Given the description of an element on the screen output the (x, y) to click on. 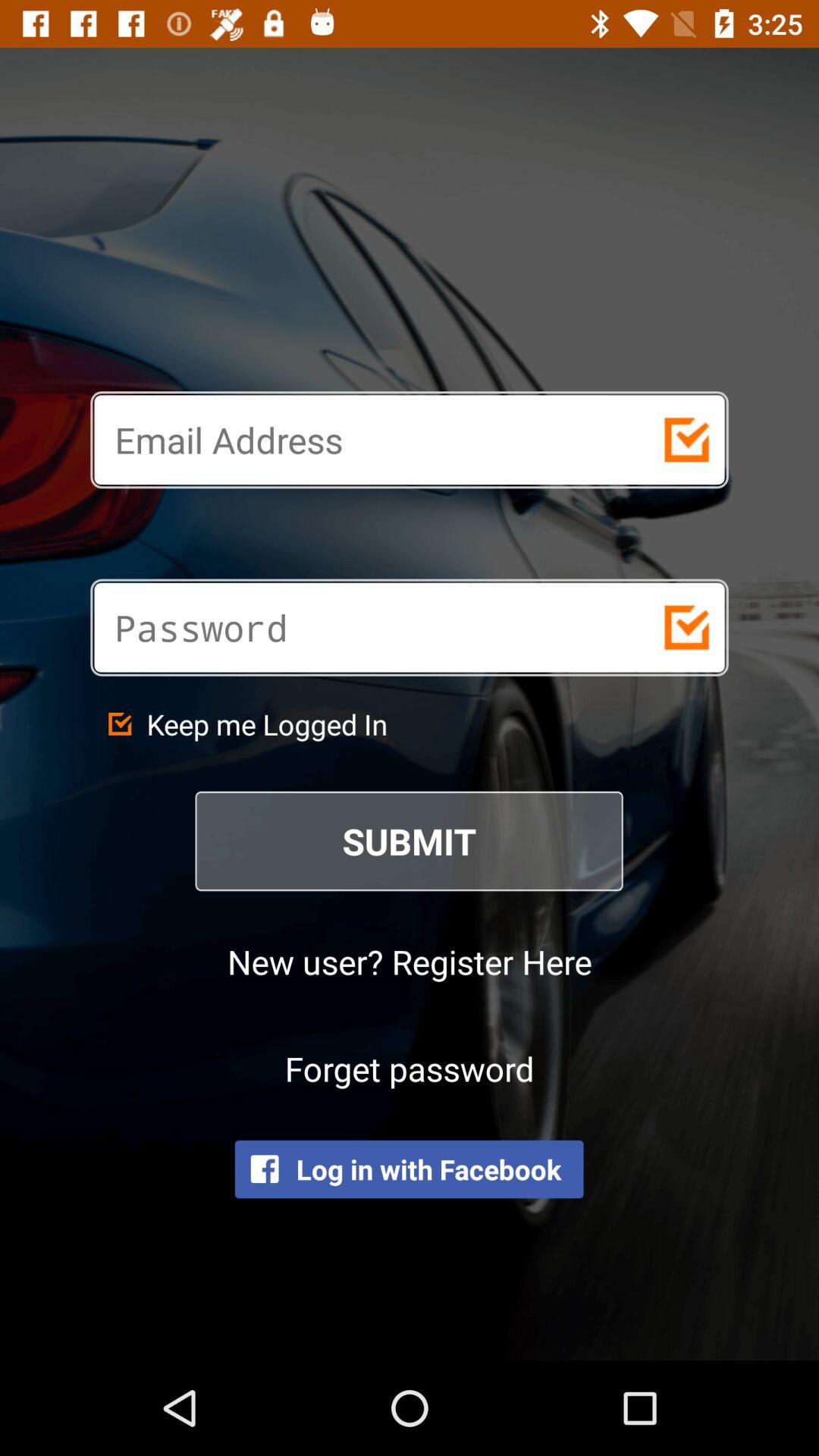
launch icon above new user register (409, 840)
